Given the description of an element on the screen output the (x, y) to click on. 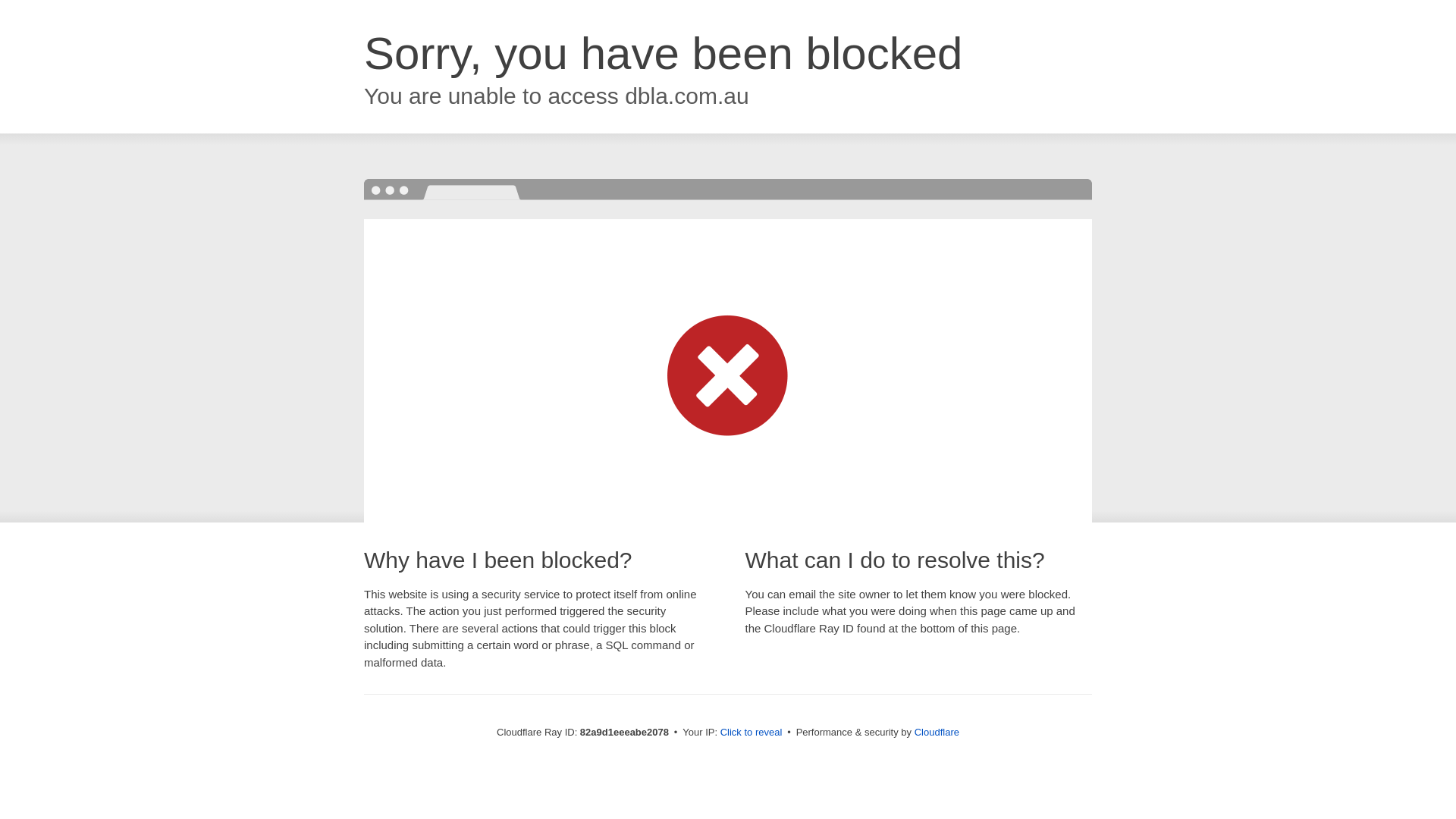
Cloudflare Element type: text (936, 731)
Click to reveal Element type: text (751, 732)
